Given the description of an element on the screen output the (x, y) to click on. 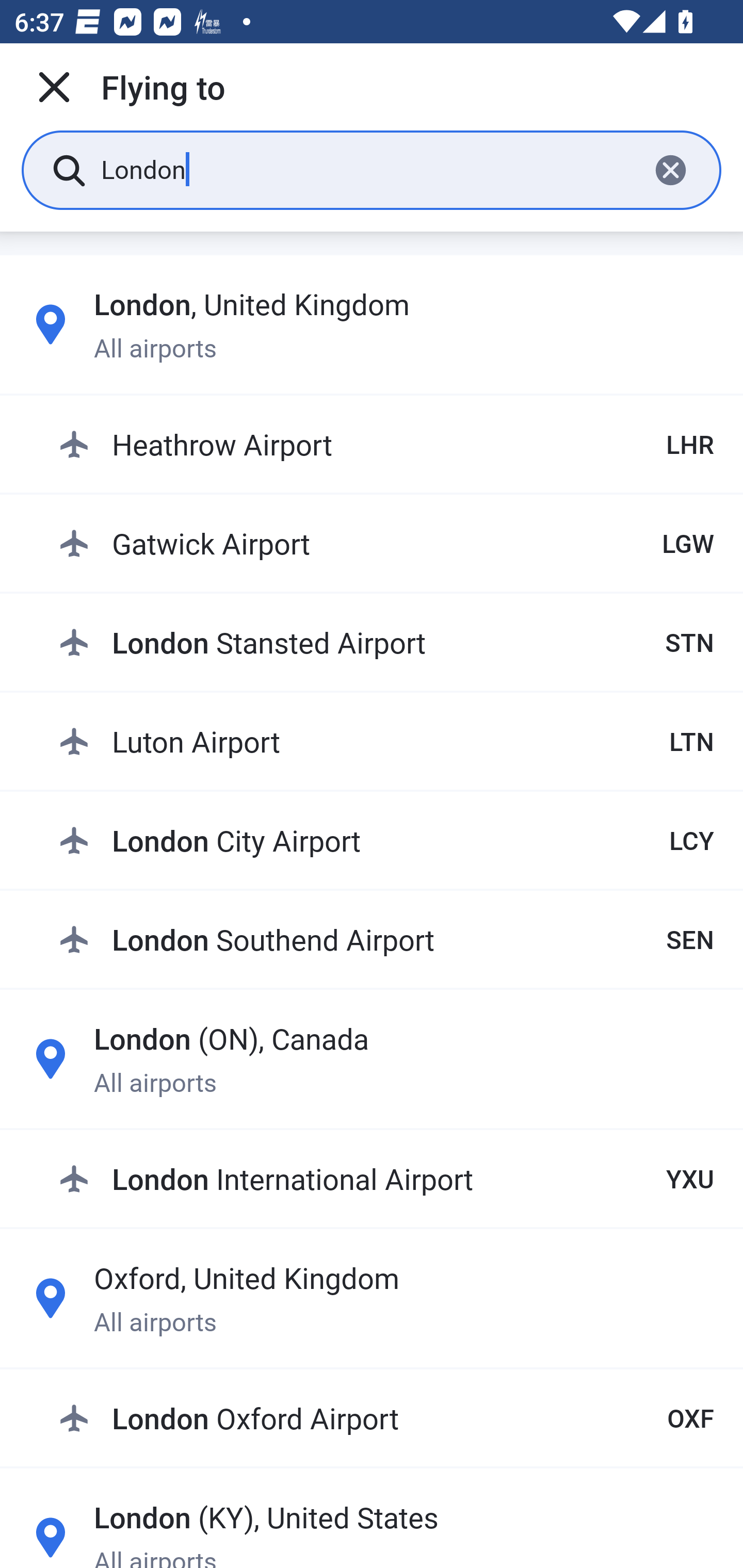
London (367, 169)
London, United Kingdom All airports (371, 324)
Heathrow Airport LHR (385, 444)
Gatwick Airport LGW (385, 543)
London Stansted Airport STN (385, 641)
Luton Airport LTN (385, 740)
London City Airport LCY (385, 839)
London Southend Airport SEN (385, 939)
London (ON), Canada All airports (371, 1059)
London International Airport YXU (385, 1178)
Oxford, United Kingdom All airports (371, 1298)
London Oxford Airport OXF (385, 1418)
London (KY), United States All airports (371, 1531)
